Given the description of an element on the screen output the (x, y) to click on. 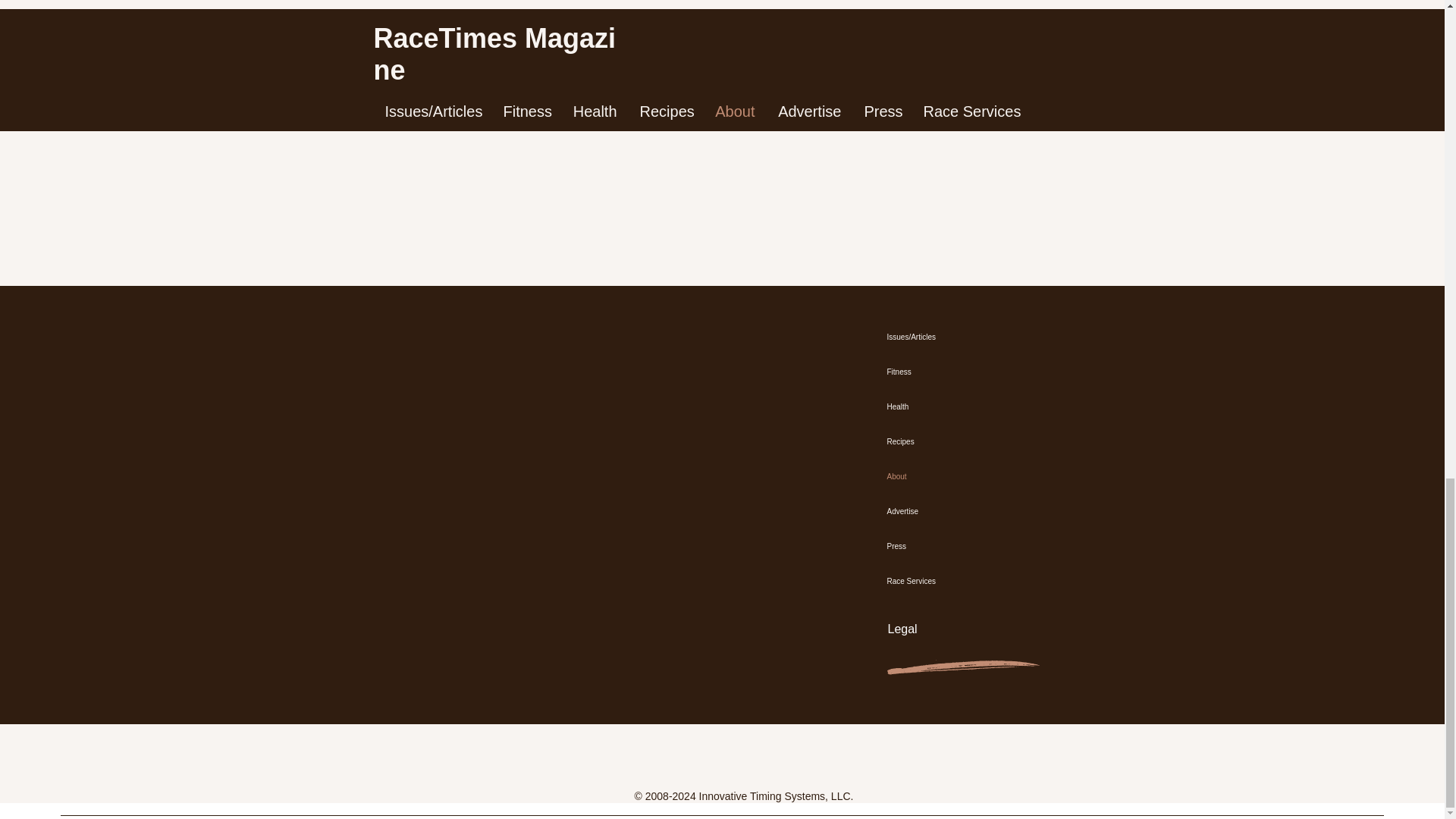
About (960, 476)
Advertise in RaceTimes! (720, 28)
Legal (901, 628)
Press (960, 546)
Fitness (960, 371)
Read More (1047, 82)
Recipes (960, 442)
Race Services (960, 581)
Health (960, 407)
Advertise (960, 511)
